Given the description of an element on the screen output the (x, y) to click on. 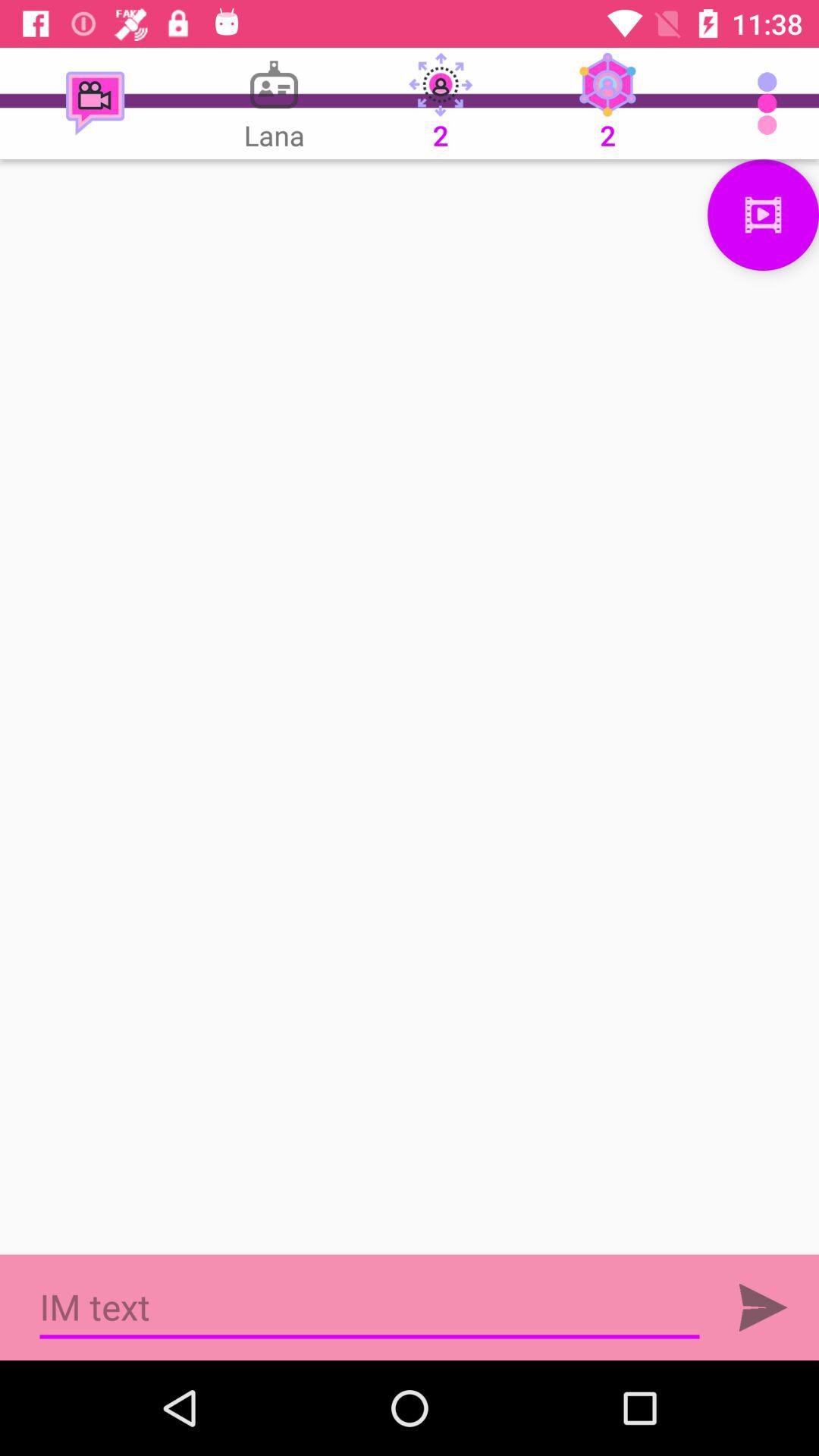
textbox (369, 1307)
